Given the description of an element on the screen output the (x, y) to click on. 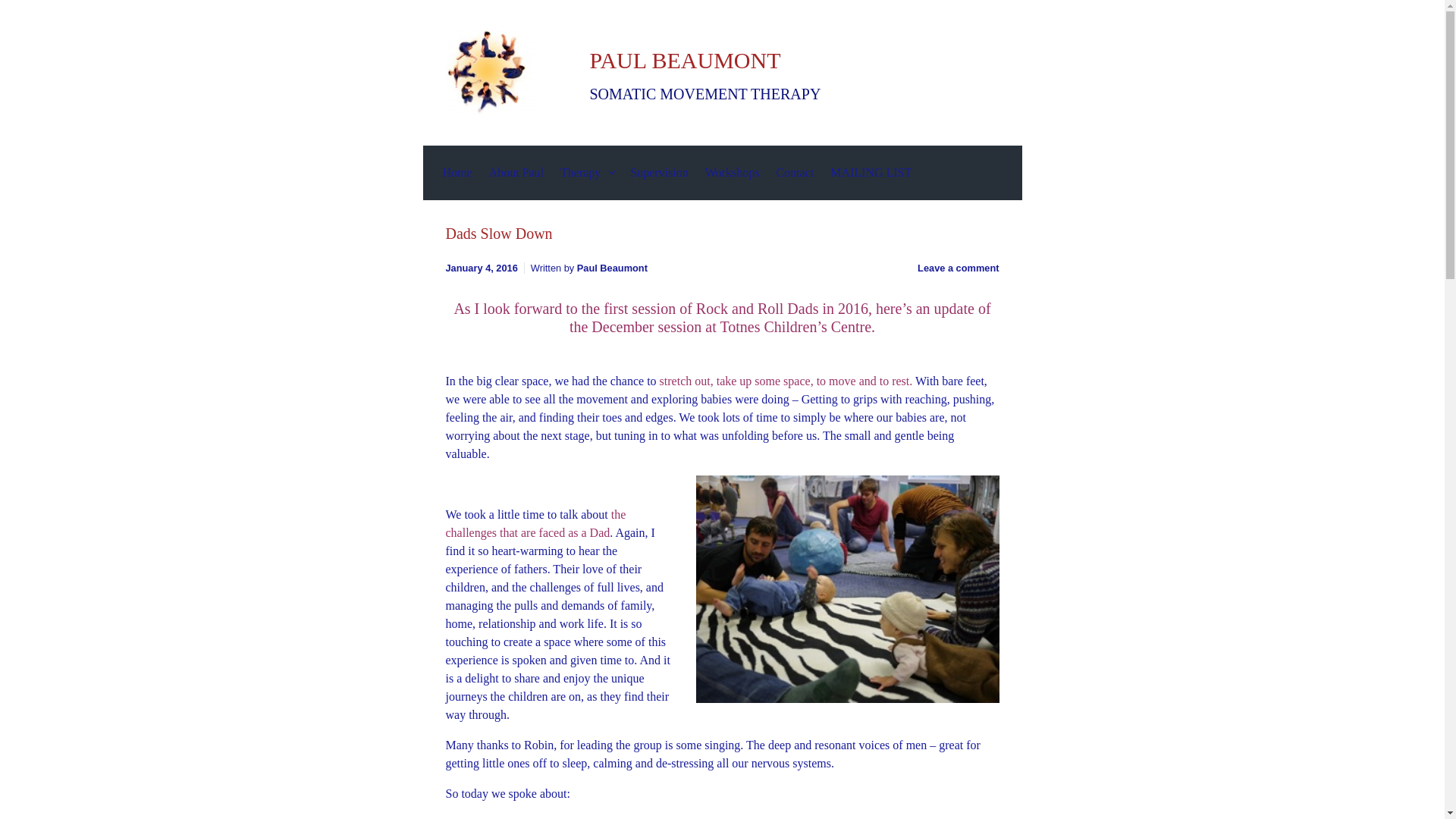
PAUL BEAUMONT (684, 59)
Paul Beaumont (611, 267)
About Paul (516, 172)
Home (457, 172)
Leave a comment (957, 267)
Therapy (587, 172)
MAILING LIST (870, 172)
Skip to main content (17, 8)
Contact (794, 172)
View all posts by Paul Beaumont (611, 267)
Workshops (731, 172)
Supervision (659, 172)
